Given the description of an element on the screen output the (x, y) to click on. 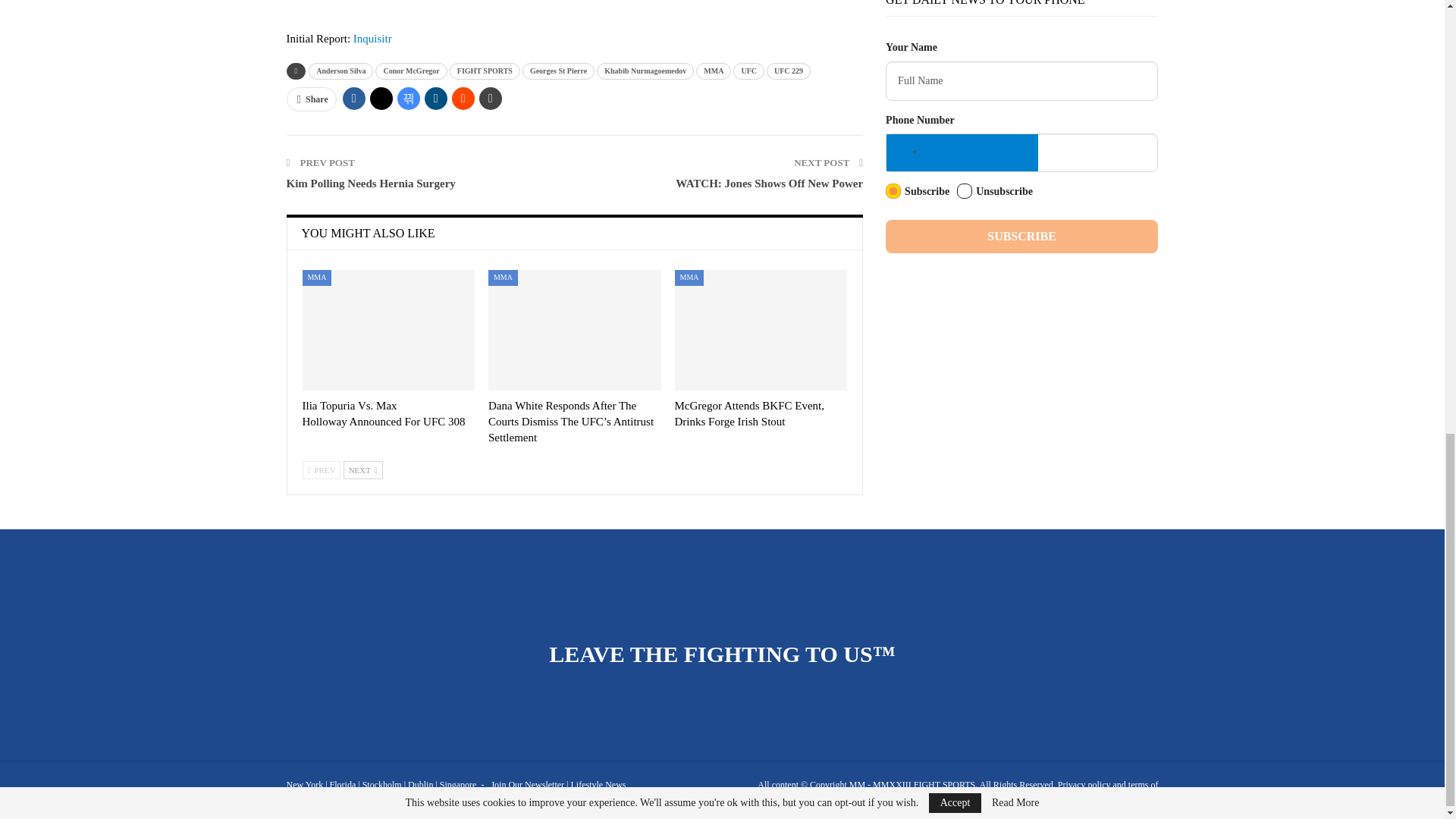
unsubscribe (964, 191)
subscribe (893, 191)
